Given the description of an element on the screen output the (x, y) to click on. 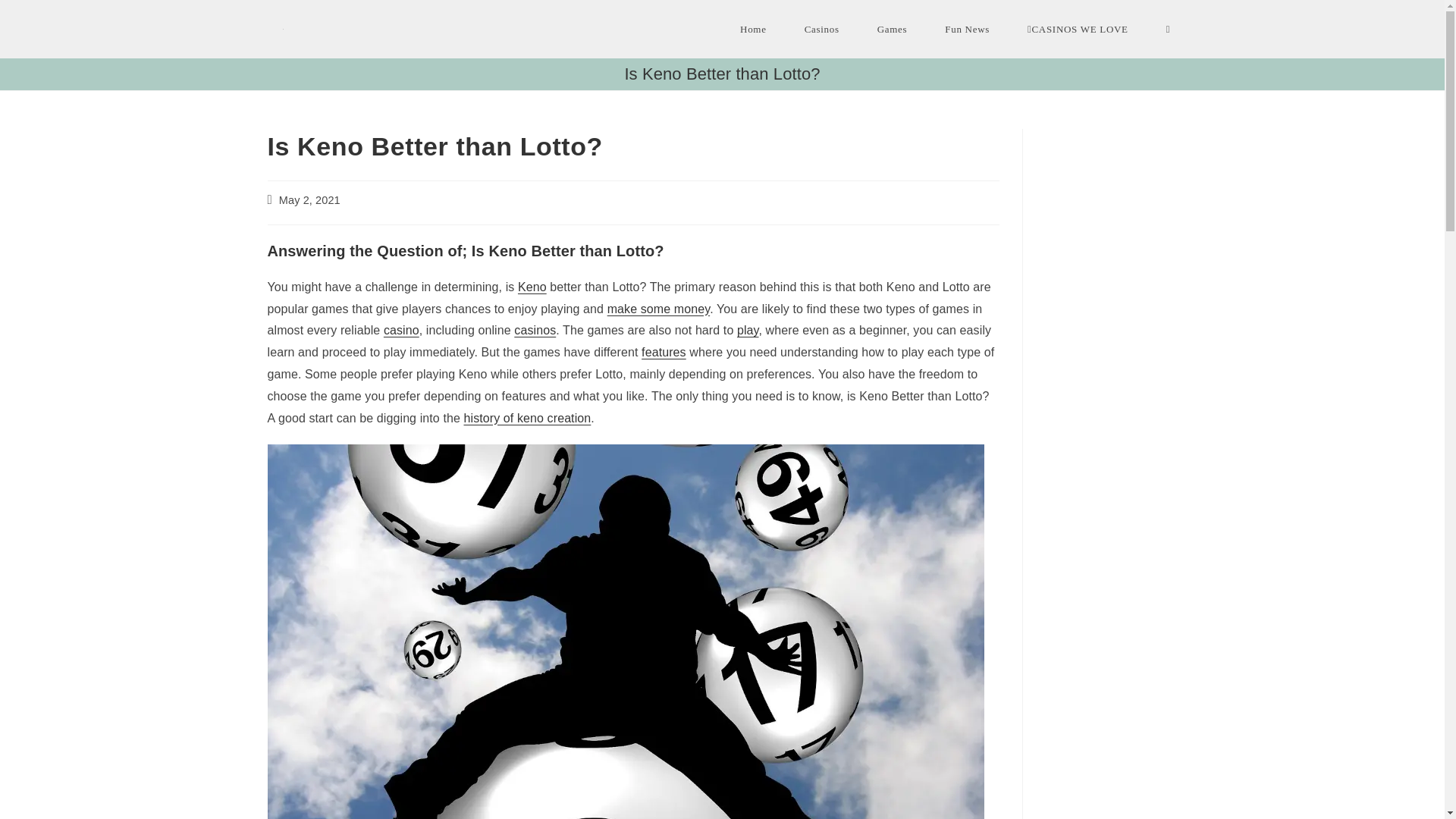
casino (401, 329)
Games (892, 29)
history of keno creation (527, 418)
Casinos (822, 29)
features (663, 351)
Keno (532, 286)
Home (753, 29)
Fun News (967, 29)
casinos (534, 329)
play (747, 329)
make some money (658, 308)
